Given the description of an element on the screen output the (x, y) to click on. 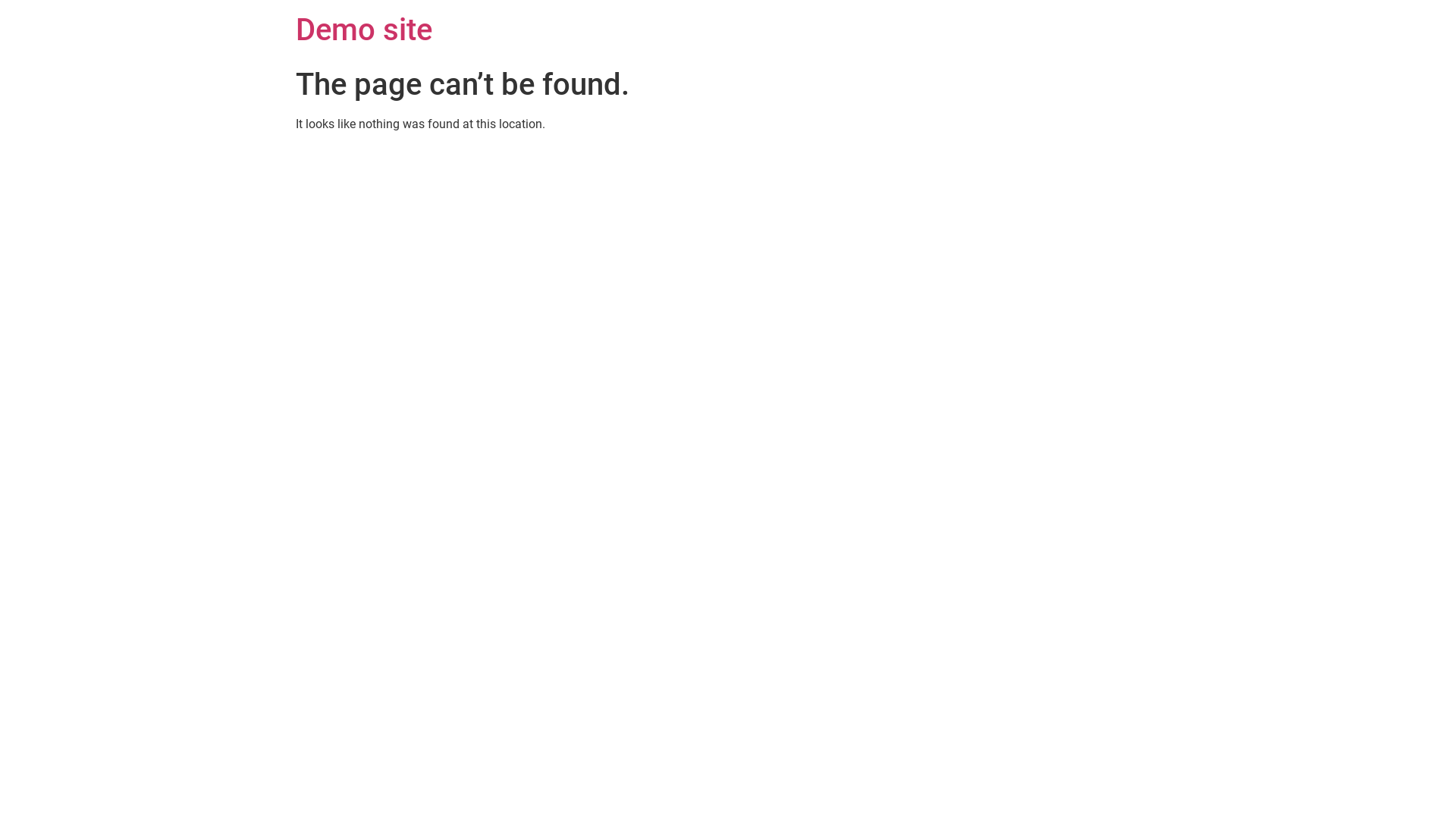
Demo site Element type: text (363, 29)
